Given the description of an element on the screen output the (x, y) to click on. 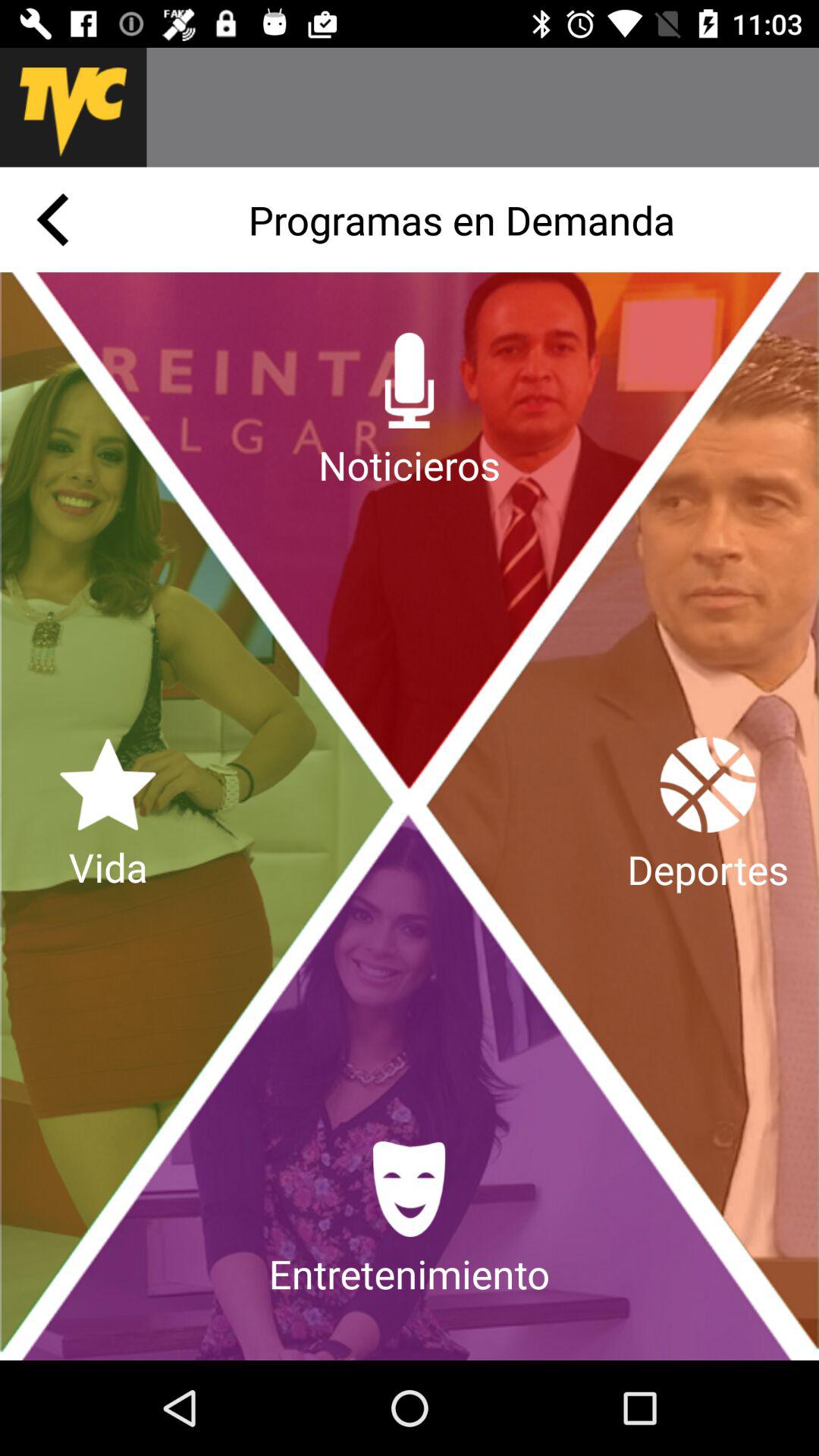
turn on app to the left of the deportes item (107, 815)
